Given the description of an element on the screen output the (x, y) to click on. 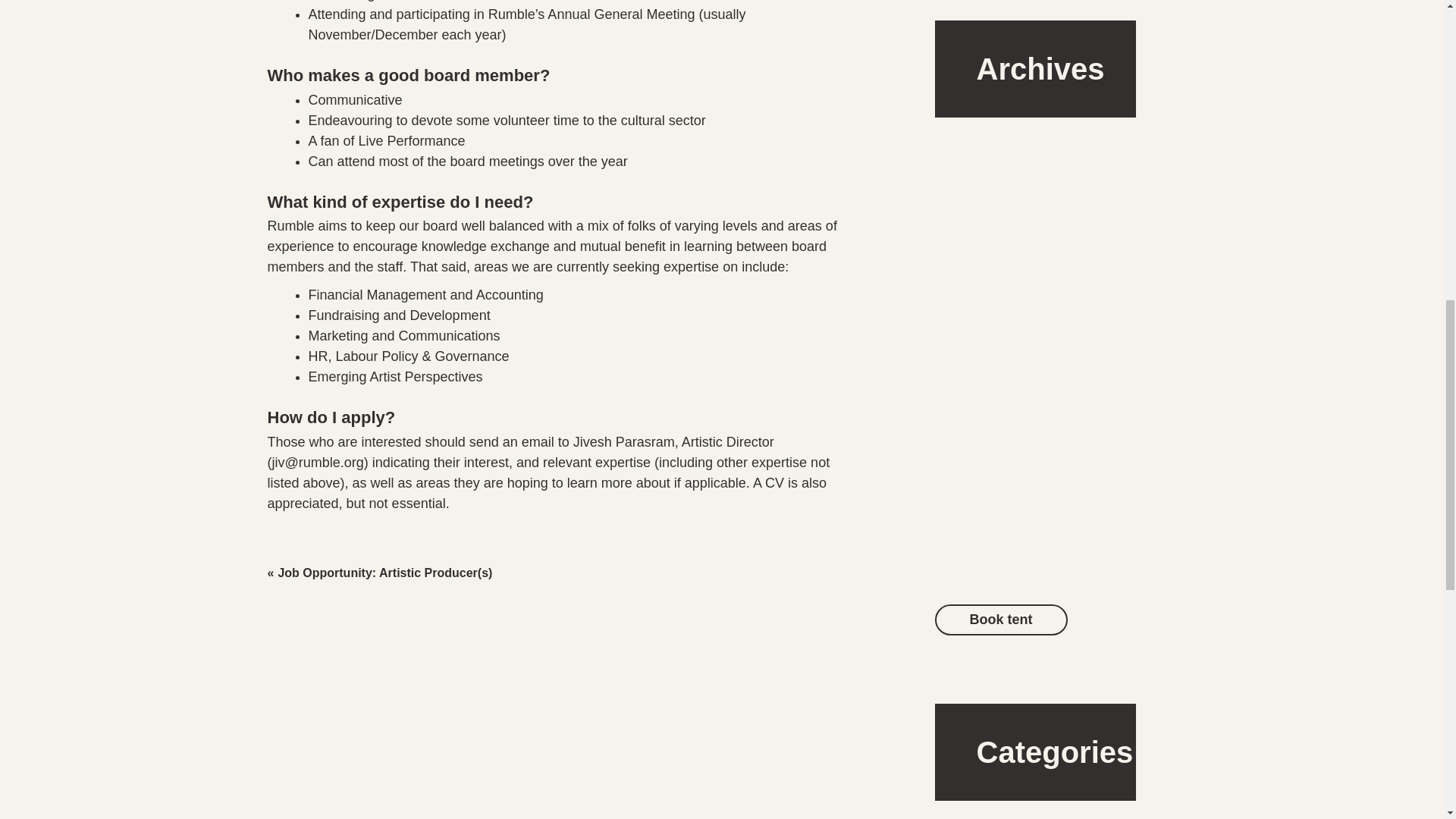
December 2021 (986, 300)
July 2022 (968, 200)
January 2022 (979, 267)
July 2021 (968, 400)
November 2021 (986, 333)
June 2023 (971, 166)
April 2022 (970, 233)
October 2023 (979, 133)
Book tent (1000, 619)
September 2021 (988, 367)
